Given the description of an element on the screen output the (x, y) to click on. 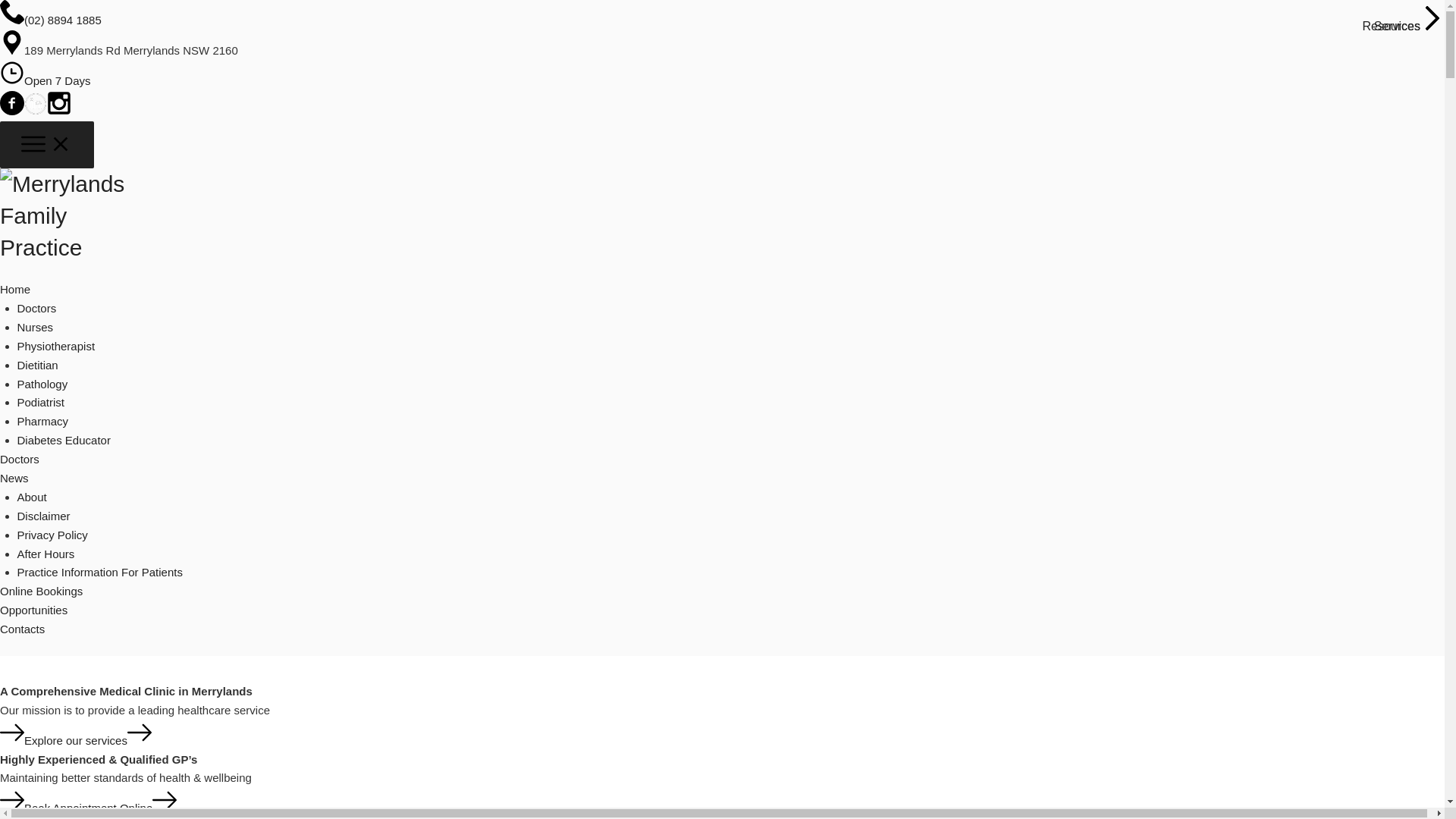
Services Element type: text (1409, 20)
Contacts Element type: text (22, 628)
About Element type: text (31, 496)
Nurses Element type: text (34, 326)
Explore our services Element type: text (75, 740)
Book Appointment Online Element type: text (88, 807)
Pharmacy Element type: text (42, 420)
Privacy Policy Element type: text (51, 534)
Online Bookings Element type: text (41, 590)
Diabetes Educator Element type: text (62, 439)
Home Element type: text (15, 288)
Resources Element type: text (1403, 20)
After Hours Element type: text (45, 553)
(02) 8894 1885 Element type: text (62, 19)
Dietitian Element type: text (36, 364)
Physiotherapist Element type: text (55, 345)
Open 7 Days Element type: text (57, 80)
Pathology Element type: text (41, 383)
News Element type: text (14, 477)
Opportunities Element type: text (33, 609)
Doctors Element type: text (19, 458)
Doctors Element type: text (36, 307)
Practice Information For Patients Element type: text (99, 571)
Podiatrist Element type: text (40, 401)
Disclaimer Element type: text (42, 515)
